Given the description of an element on the screen output the (x, y) to click on. 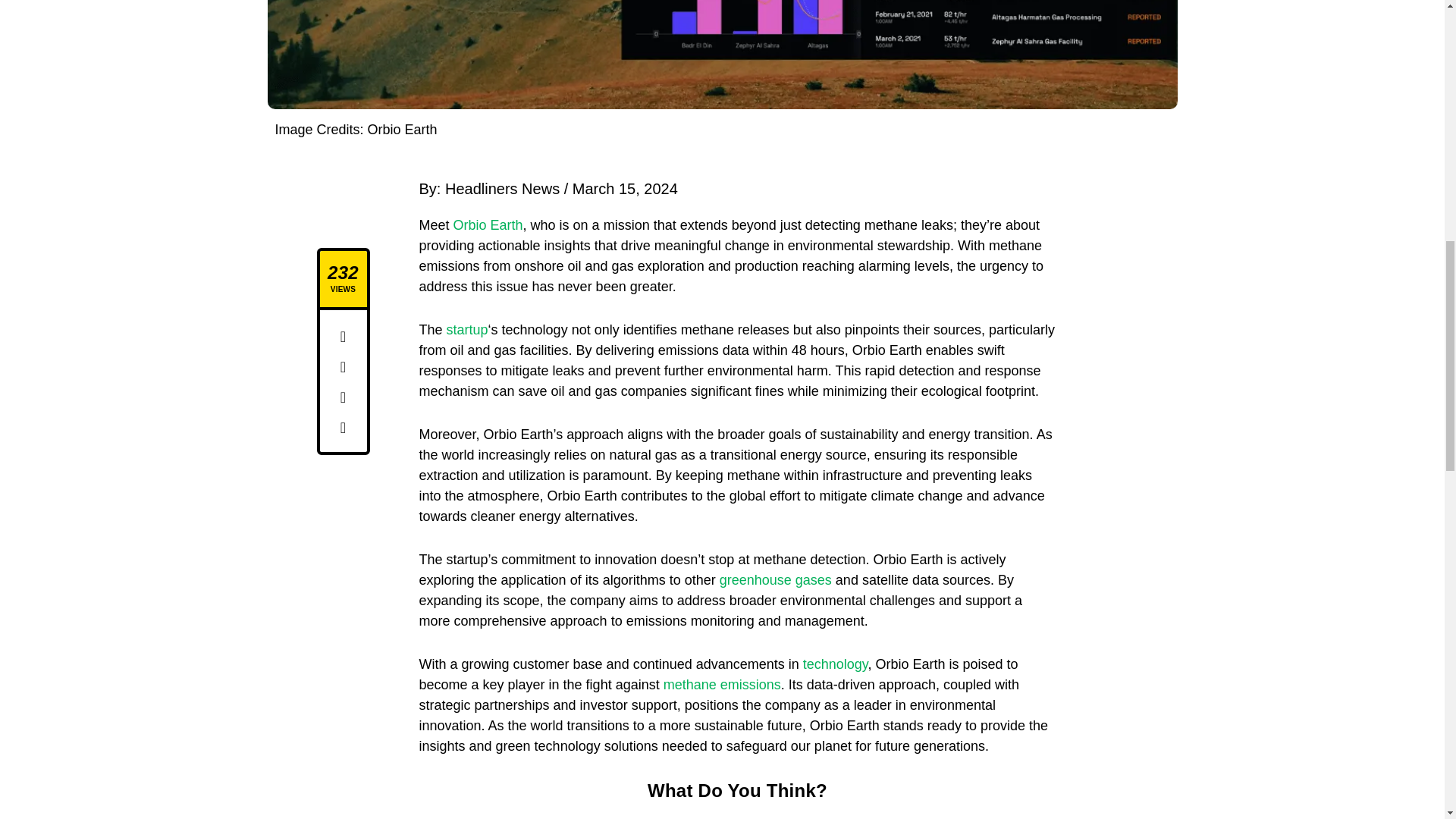
232 (342, 272)
methane emissions (721, 684)
greenhouse gases (775, 580)
startup (466, 329)
Orbio Earth (487, 224)
technology (835, 663)
